Given the description of an element on the screen output the (x, y) to click on. 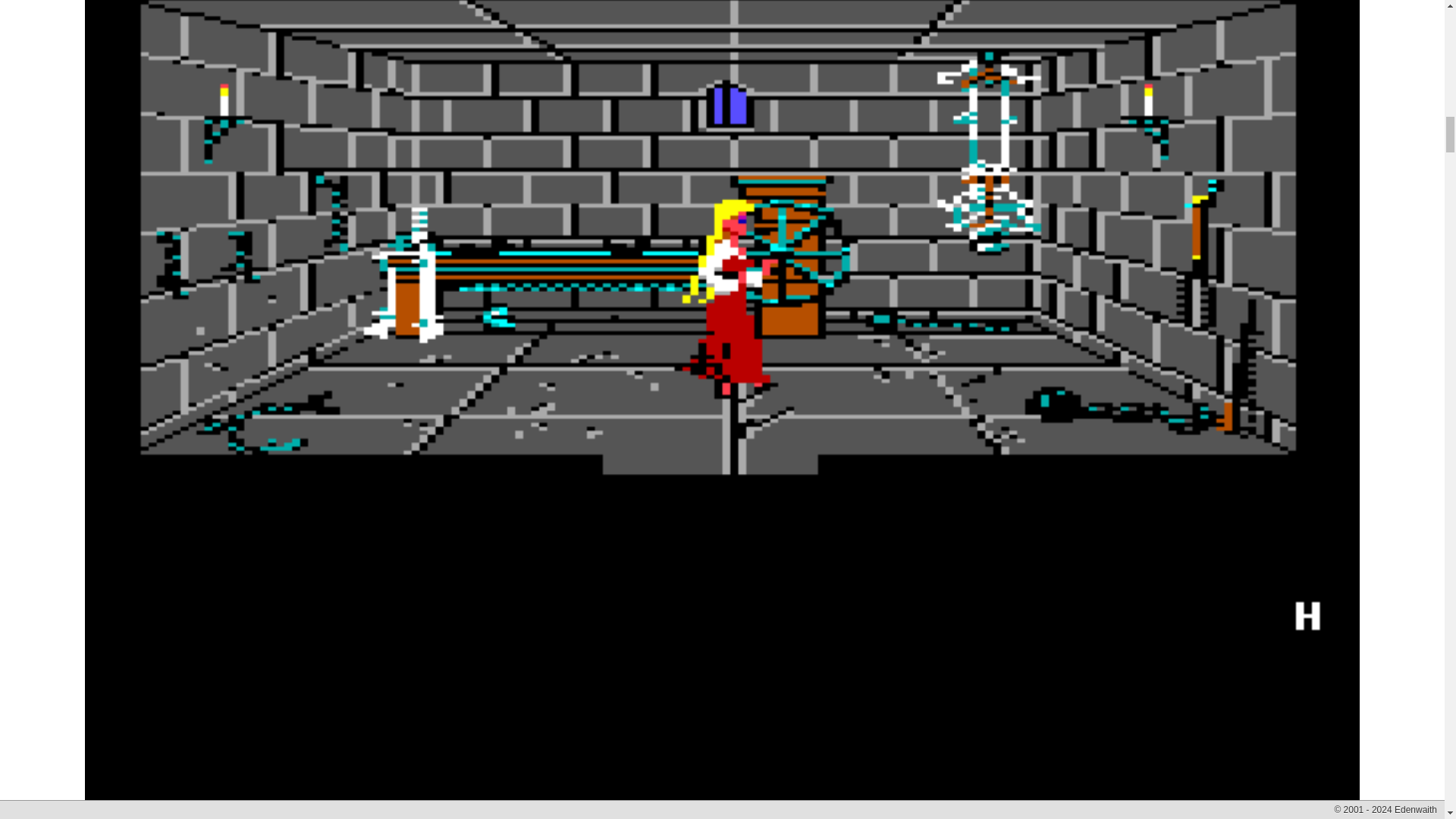
KQ4 Rap - AGI version of King's Quest 4 (721, 782)
